Given the description of an element on the screen output the (x, y) to click on. 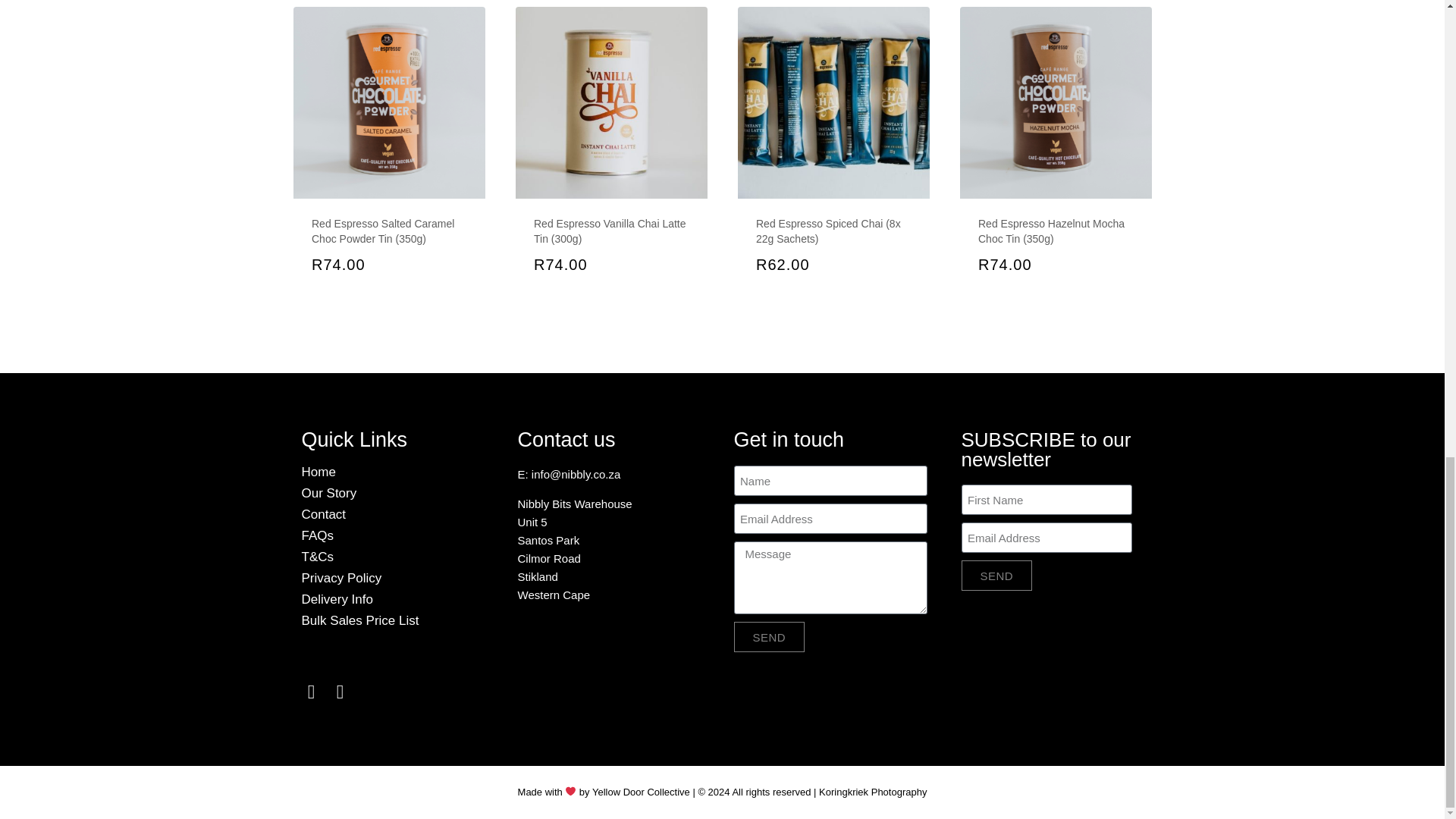
Our Story (398, 492)
Bulk Sales Price List (398, 620)
Privacy Policy (398, 577)
Page 1 (613, 535)
Contact (398, 513)
Home (398, 472)
FAQs (398, 535)
Delivery Info (398, 599)
